Given the description of an element on the screen output the (x, y) to click on. 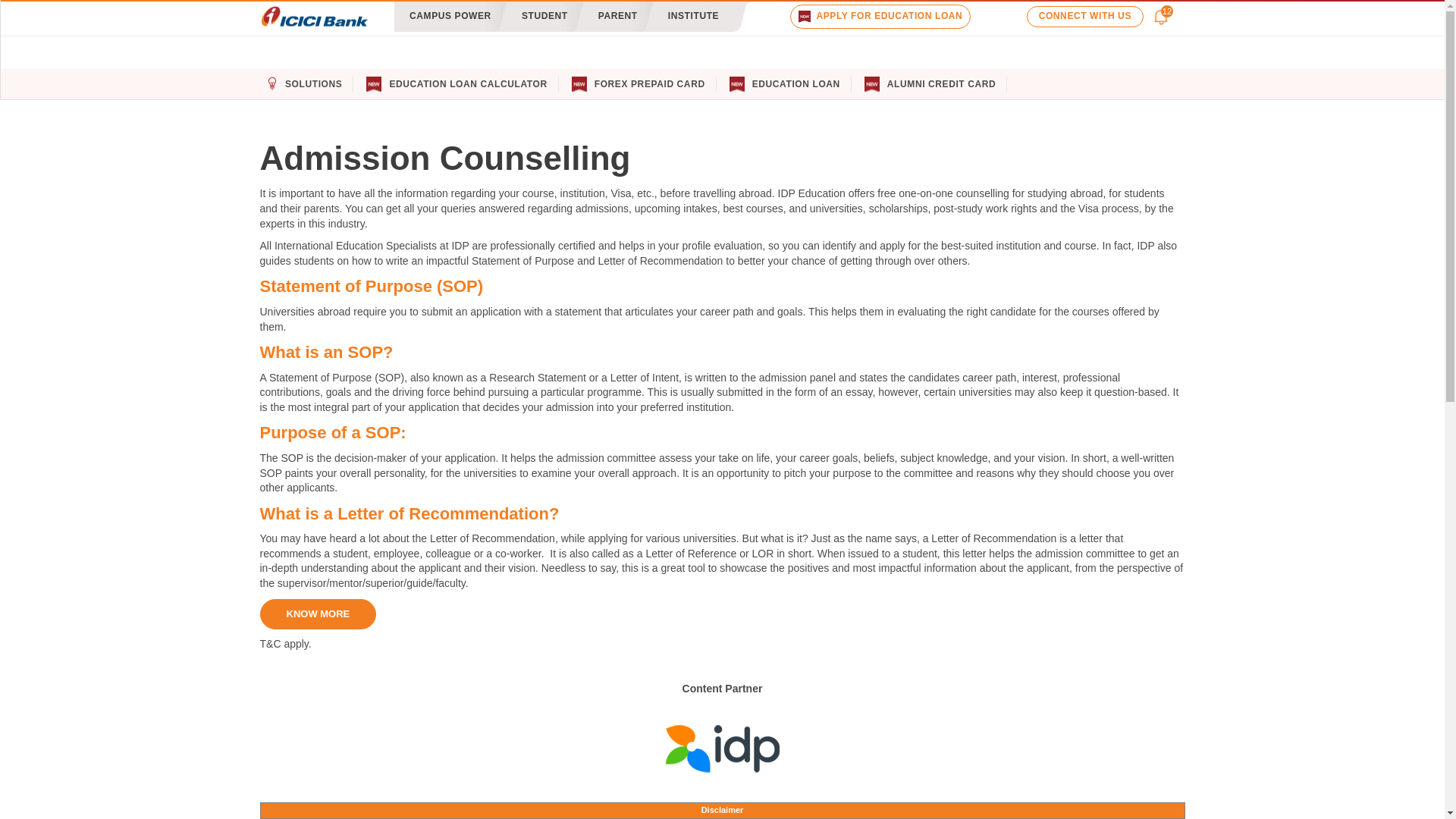
APPLY FOR EDUCATION LOAN (880, 15)
FOREX PREPAID CARD (649, 83)
EDUCATION LOAN CALCULATOR (467, 83)
CAMPUS POWER (450, 16)
STUDENT (544, 16)
EDUCATION LOAN (796, 83)
PARENT (617, 16)
SOLUTIONS (313, 83)
CONNECT WITH US (1084, 15)
ALUMNI CREDIT CARD (940, 83)
INSTITUTE (692, 16)
